Given the description of an element on the screen output the (x, y) to click on. 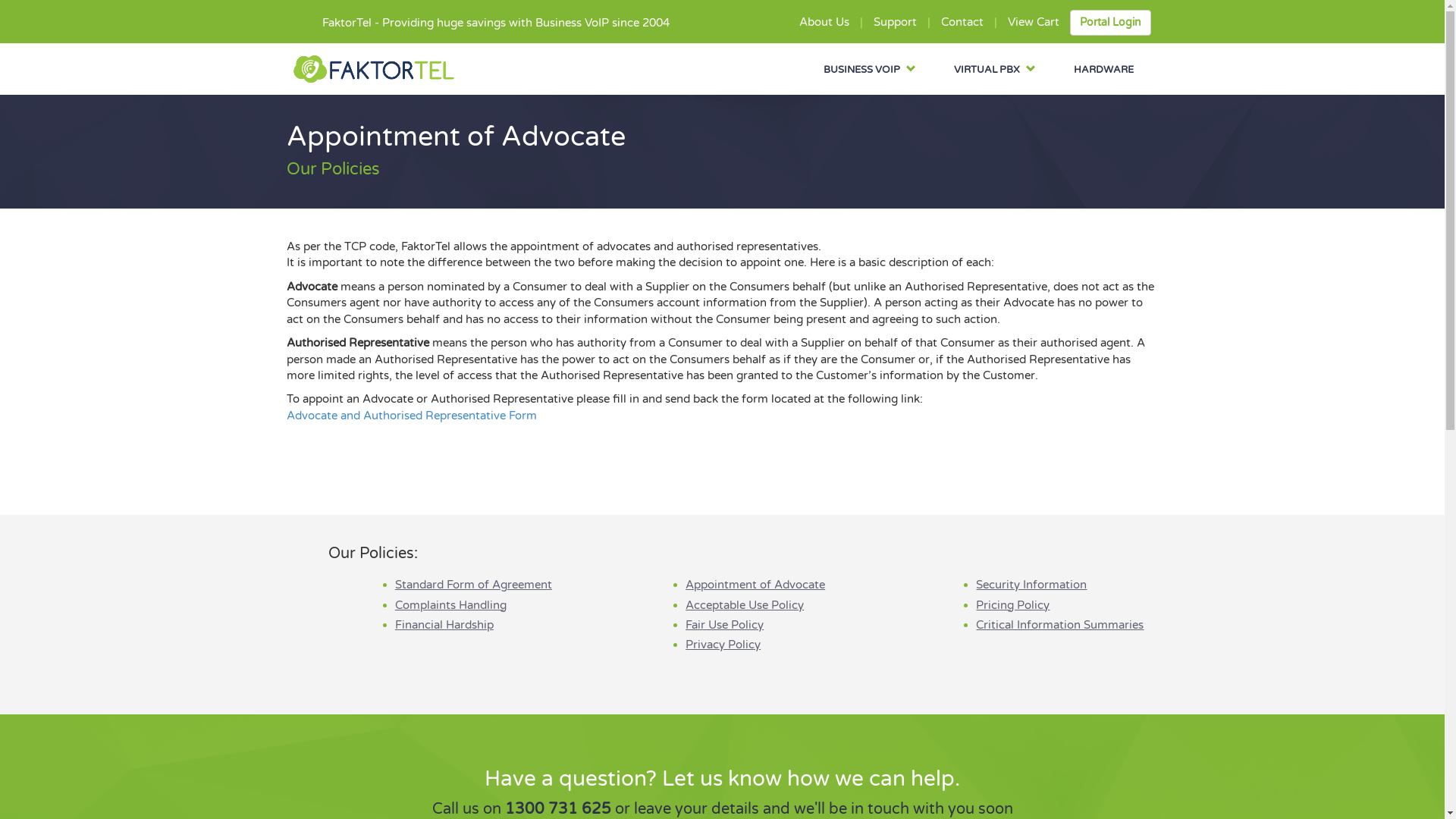
Contact Element type: text (961, 21)
Acceptable Use Policy Element type: text (744, 604)
Privacy Policy Element type: text (722, 644)
HARDWARE Element type: text (1103, 69)
Support Element type: text (894, 21)
Security Information Element type: text (1030, 584)
Our Policies Element type: text (332, 168)
BUSINESS VOIP Element type: text (869, 69)
About Us Element type: text (824, 21)
VIRTUAL PBX Element type: text (994, 69)
Complaints Handling Element type: text (450, 604)
Advocate and Authorised Representative Form Element type: text (411, 415)
Fair Use Policy Element type: text (724, 624)
Standard Form of Agreement Element type: text (473, 584)
Portal Login Element type: text (1109, 22)
Pricing Policy Element type: text (1012, 604)
Appointment of Advocate Element type: text (755, 584)
FaktorTel VOIP Element type: hover (373, 68)
Critical Information Summaries Element type: text (1059, 624)
View Cart Element type: text (1032, 21)
Financial Hardship Element type: text (444, 624)
